Given the description of an element on the screen output the (x, y) to click on. 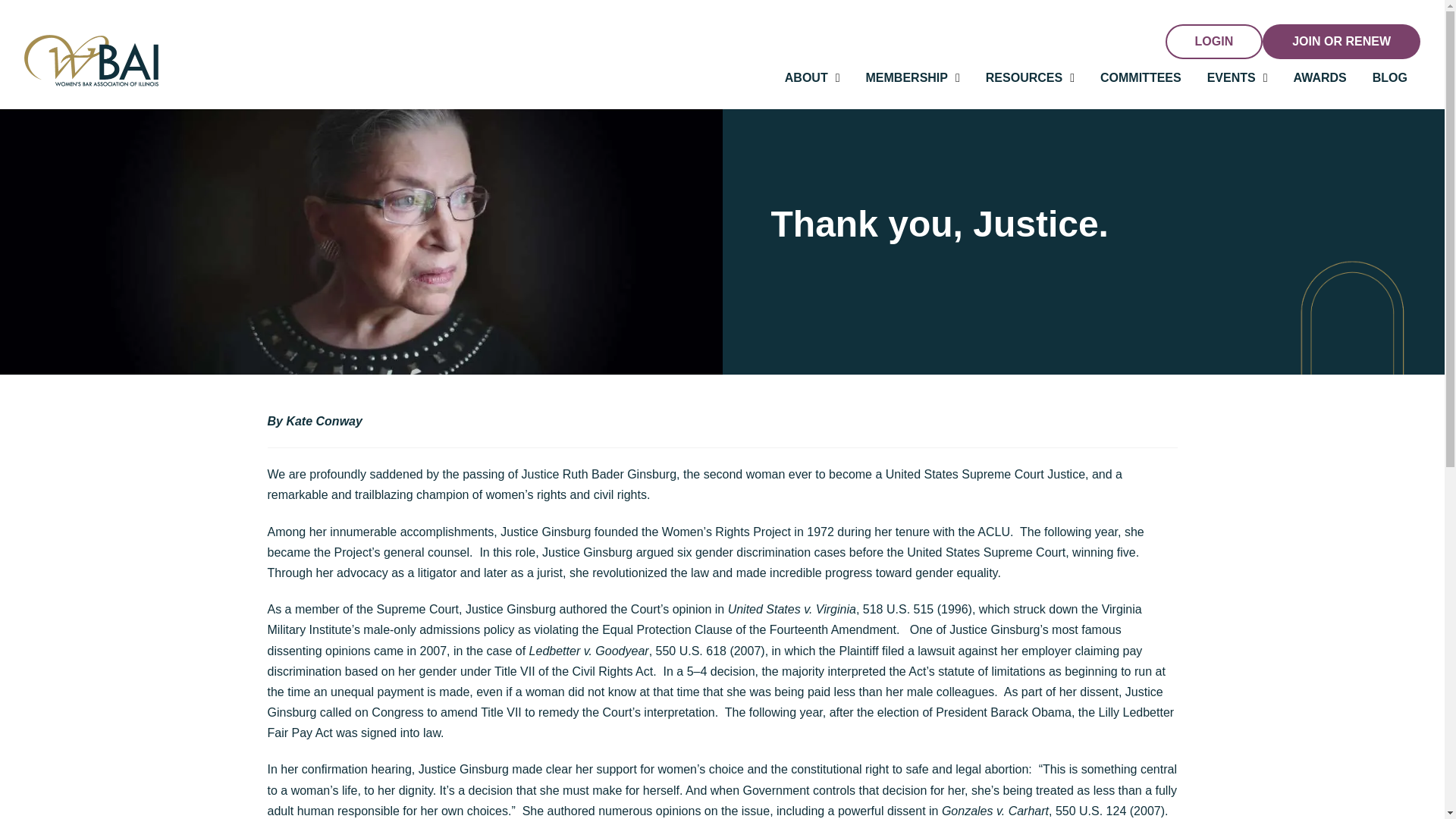
RESOURCES (1029, 77)
COMMITTEES (1140, 77)
MEMBERSHIP (912, 77)
LOGIN (1214, 41)
BLOG (1390, 77)
ABOUT (812, 77)
AWARDS (1320, 77)
EVENTS (1237, 77)
JOIN OR RENEW (1341, 41)
